Given the description of an element on the screen output the (x, y) to click on. 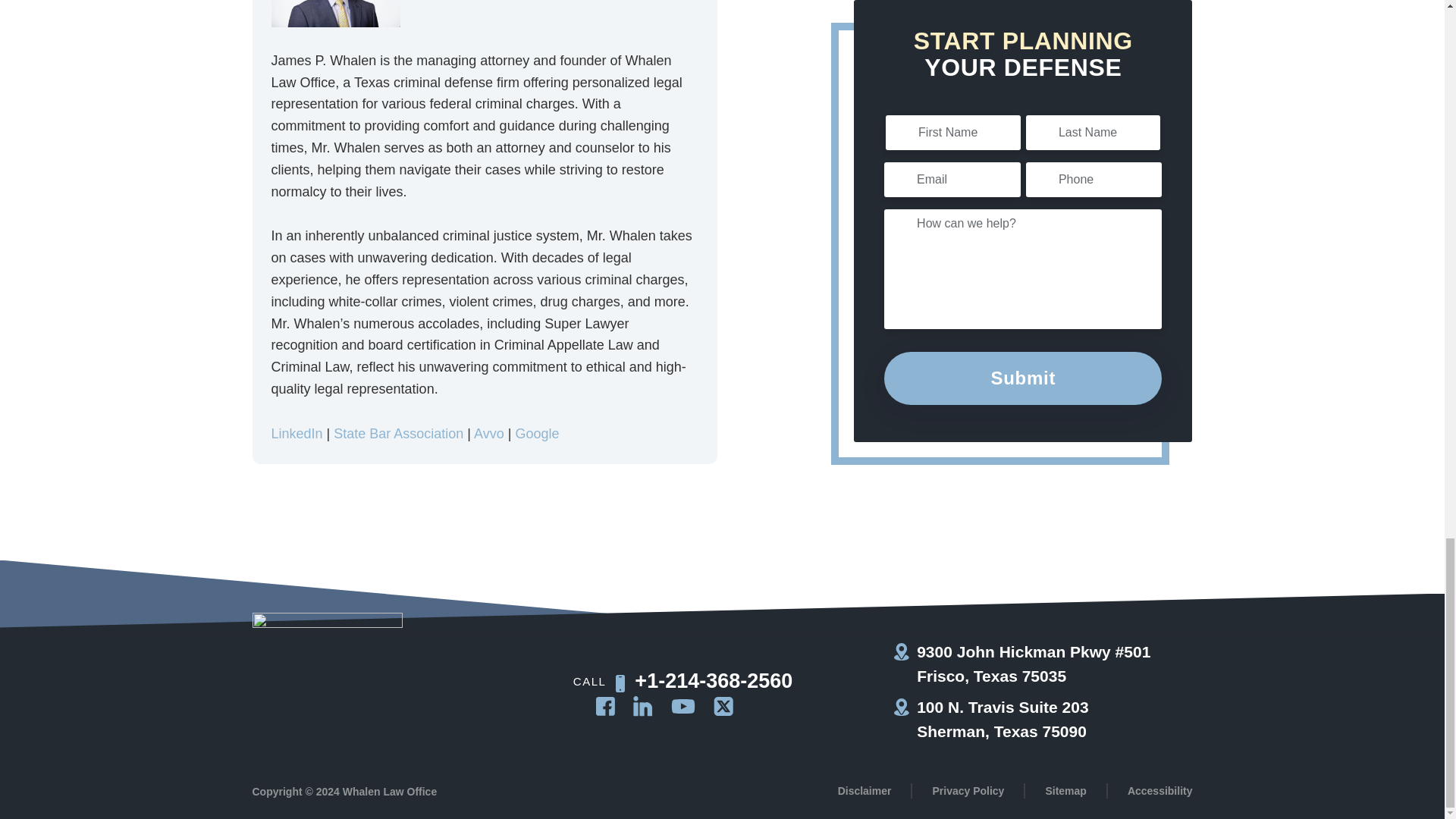
Whalen Law Office (326, 676)
